Given the description of an element on the screen output the (x, y) to click on. 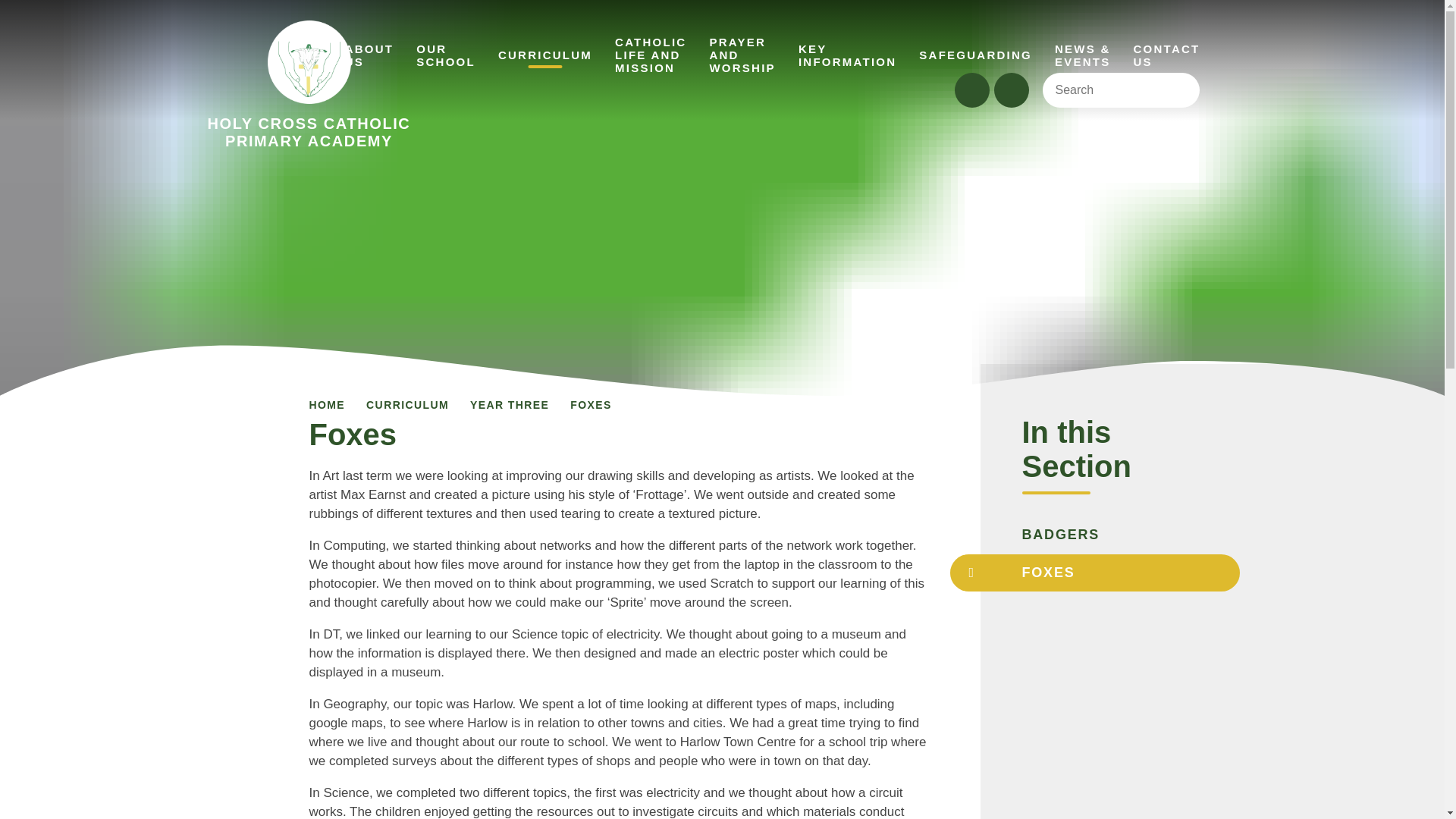
HOME (308, 84)
Search (301, 54)
OUR SCHOOL (1110, 89)
ABOUT US (445, 54)
